Given the description of an element on the screen output the (x, y) to click on. 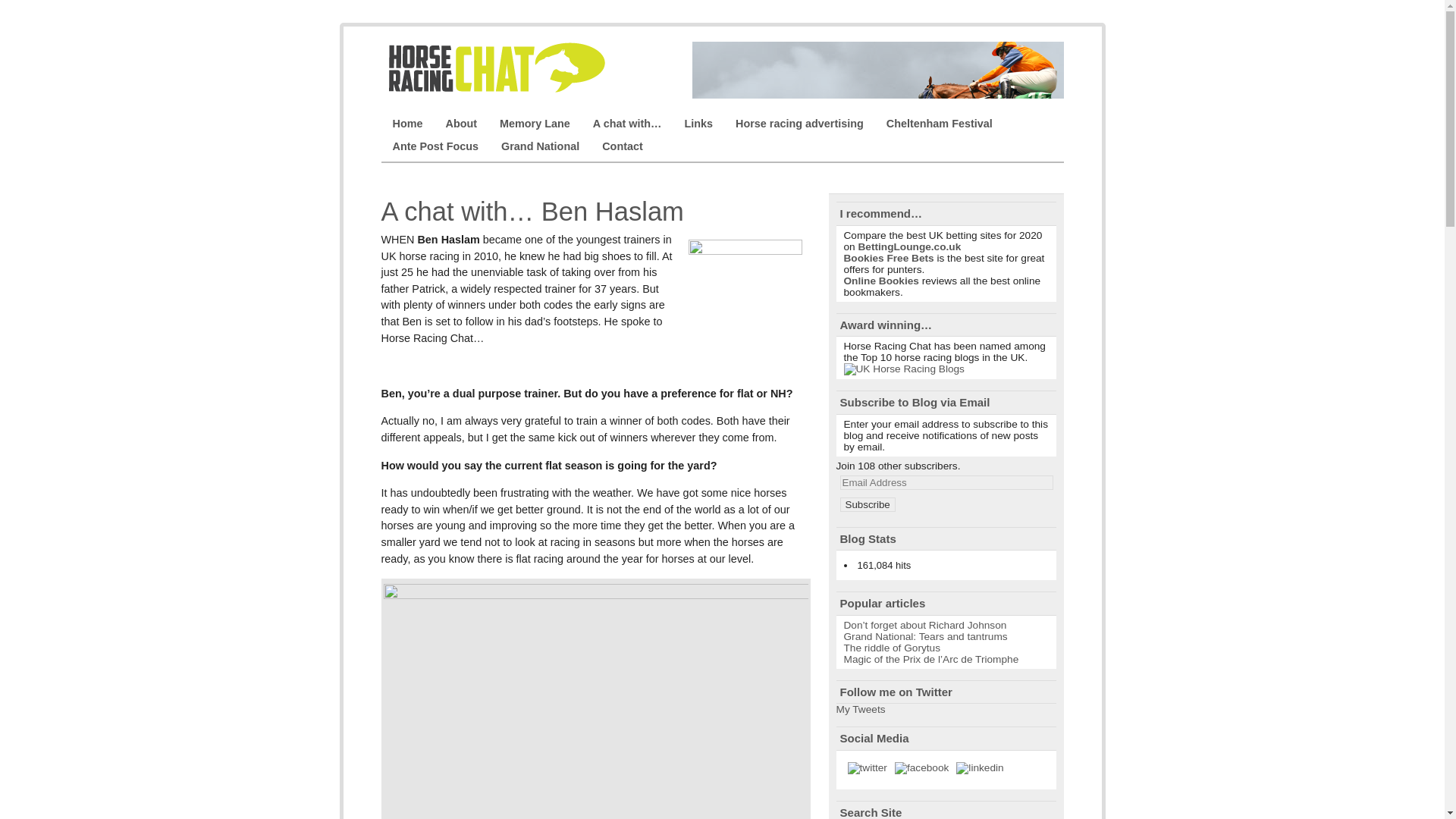
Ante Post Focus (434, 146)
Horse racing advertising (799, 123)
Subscribe (867, 504)
benhaslamcropped (745, 295)
UK Horse Racing Blogs (903, 368)
BettingLounge.co.uk (908, 246)
Online Bookies (880, 280)
Home (406, 123)
My Tweets (860, 708)
Links (697, 123)
